Given the description of an element on the screen output the (x, y) to click on. 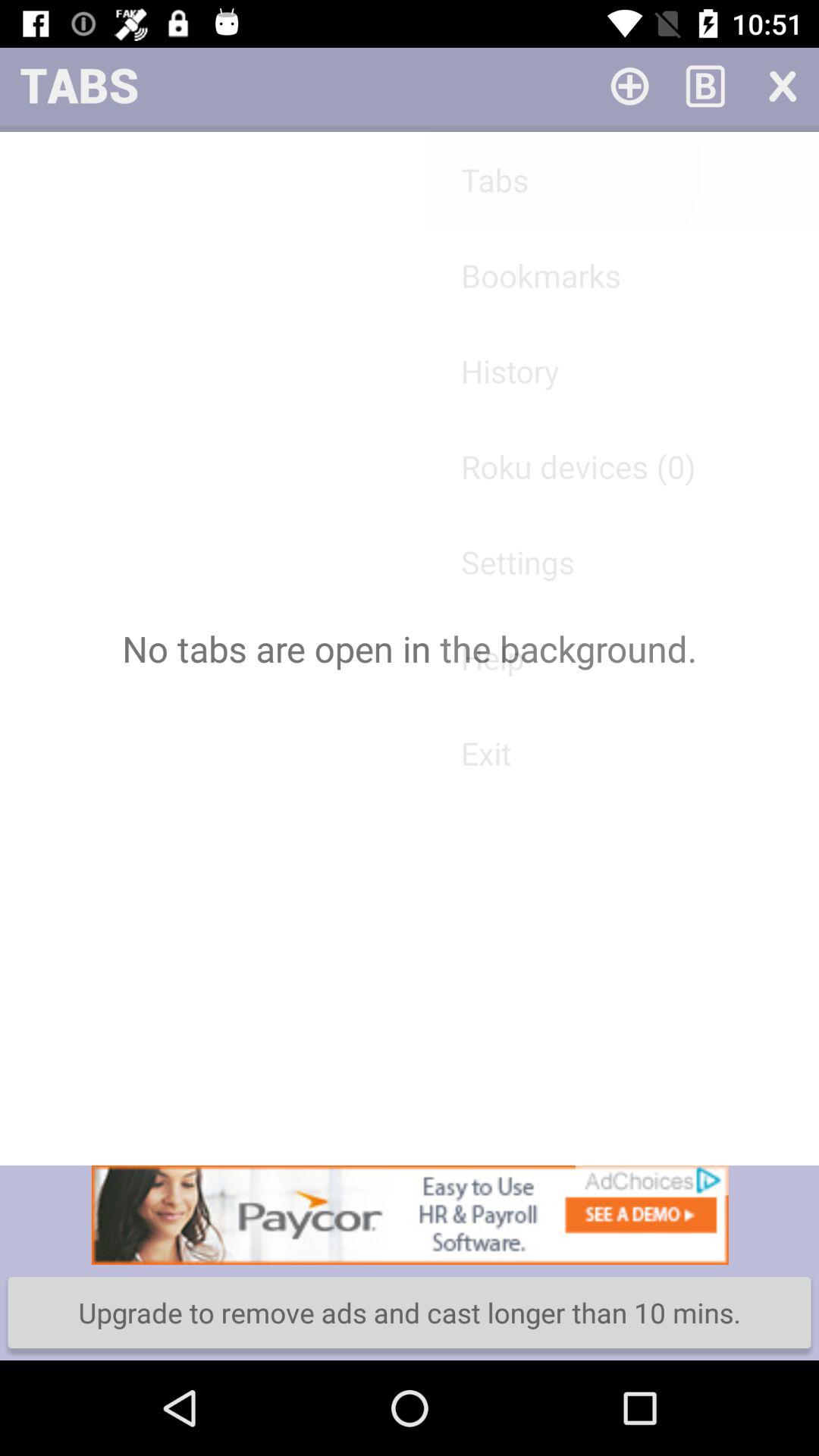
click to close option (781, 85)
